Given the description of an element on the screen output the (x, y) to click on. 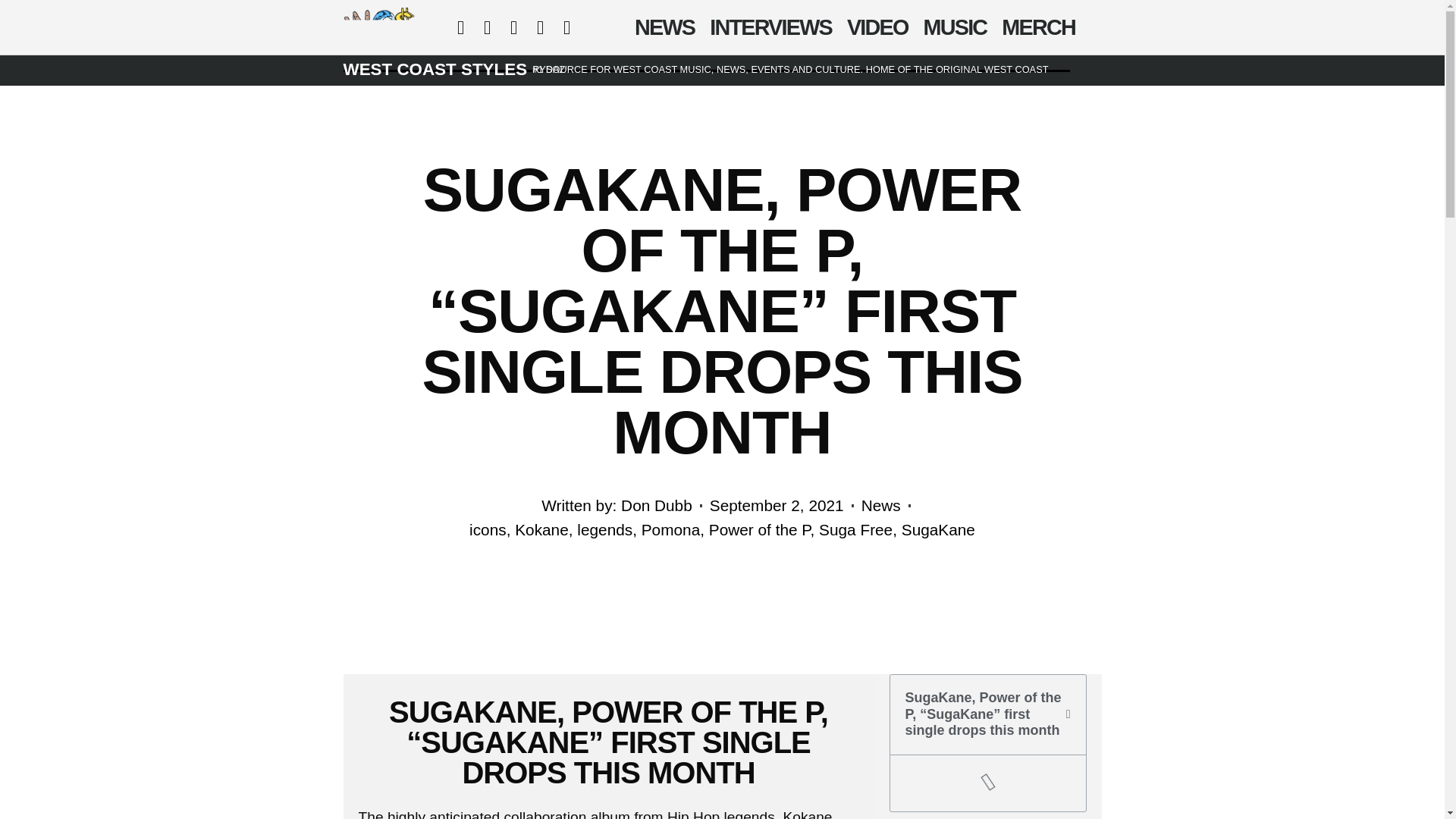
SugaKane (938, 529)
News (881, 505)
legends (603, 529)
icons (487, 529)
Pomona (671, 529)
Power of the P (759, 529)
INTERVIEWS (770, 27)
Kokane (542, 529)
Suga Free (855, 529)
NEWS (664, 27)
